Given the description of an element on the screen output the (x, y) to click on. 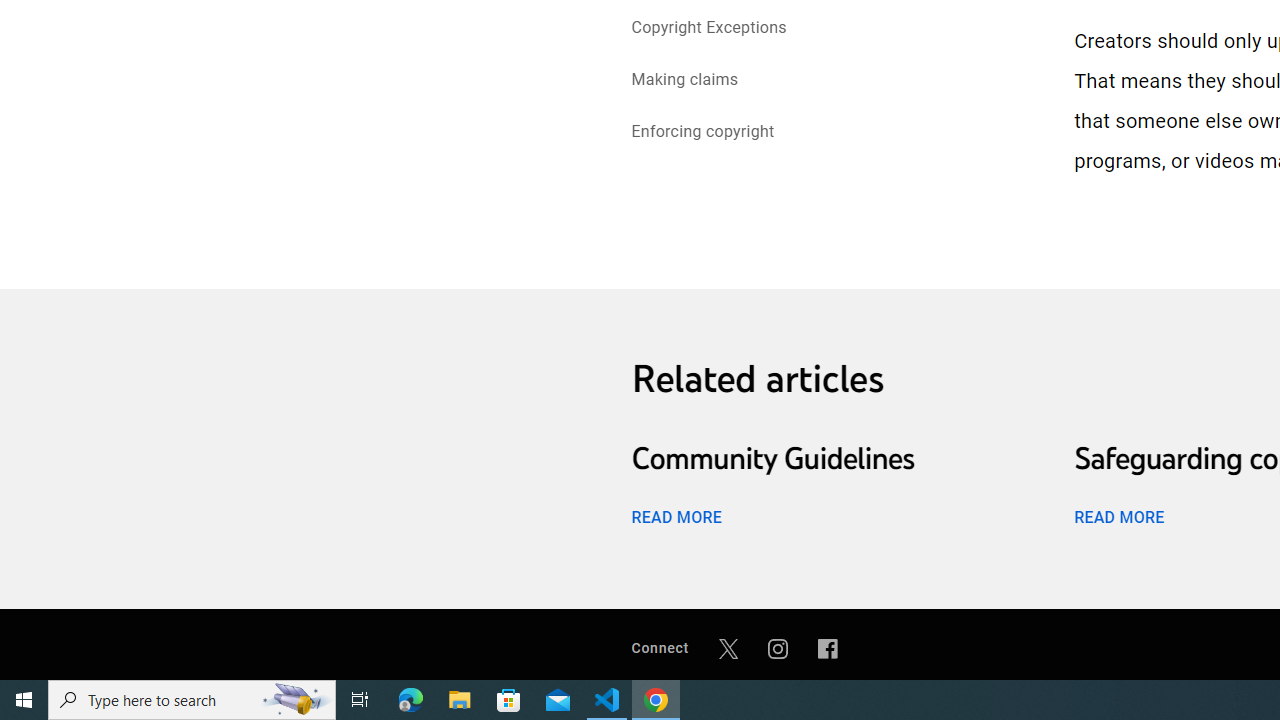
Making claims (684, 81)
Facebook (828, 648)
Enforcing copyright (702, 133)
READ MORE (1118, 516)
Copyright Exceptions (709, 28)
Twitter (728, 648)
Instagram (778, 648)
